Given the description of an element on the screen output the (x, y) to click on. 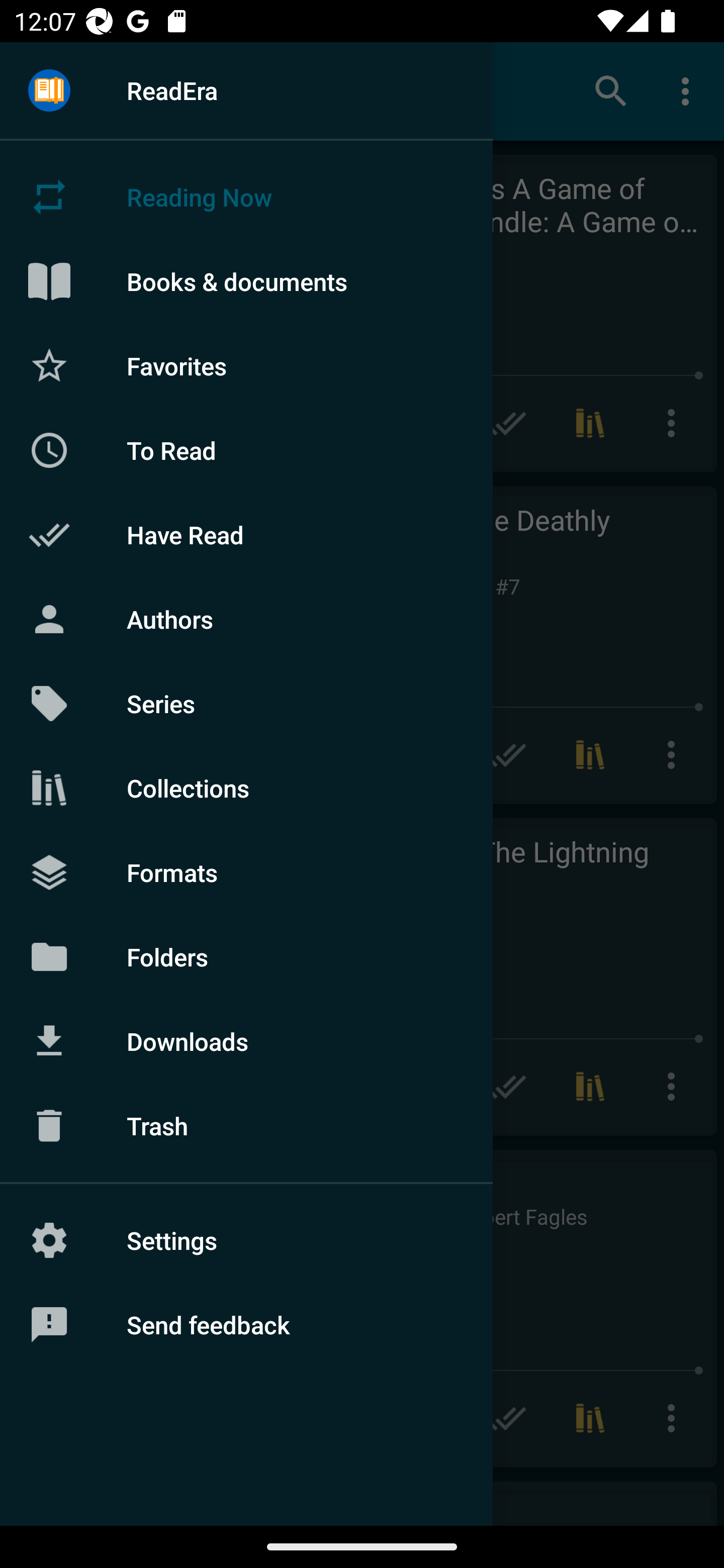
Menu (49, 91)
ReadEra (246, 89)
Search books & documents (611, 90)
More options (688, 90)
Reading Now (246, 197)
Books & documents (246, 281)
Favorites (246, 365)
To Read (246, 449)
Have Read (246, 534)
Authors (246, 619)
Series (246, 703)
Collections (246, 787)
Formats (246, 871)
Folders (246, 956)
Downloads (246, 1040)
Trash (246, 1125)
Settings (246, 1239)
Send feedback (246, 1324)
